Given the description of an element on the screen output the (x, y) to click on. 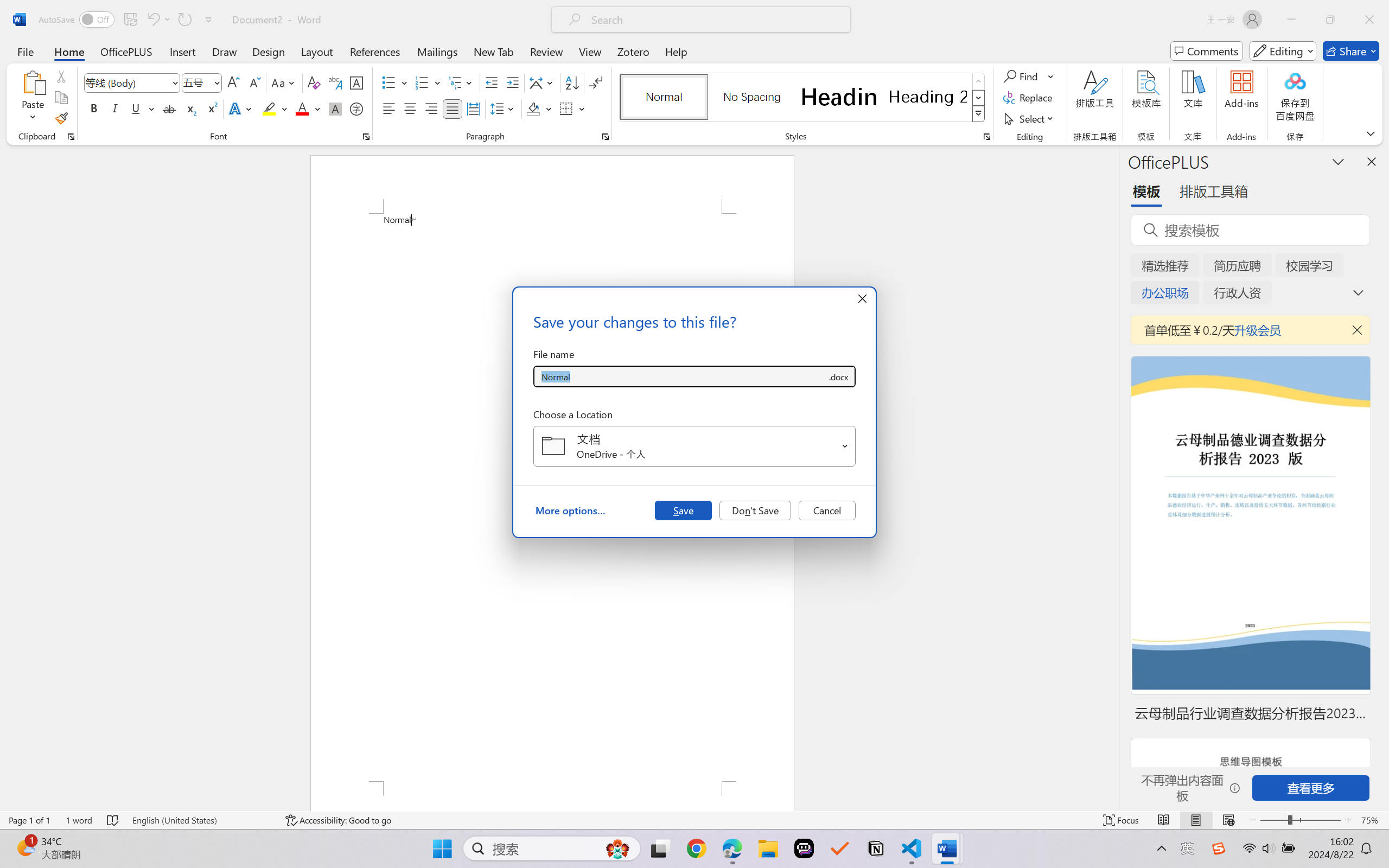
Find (1022, 75)
Print Layout (1196, 819)
Row Down (978, 97)
Grow Font (233, 82)
OfficePLUS (126, 51)
Bullets (388, 82)
Customize Quick Access Toolbar (208, 19)
Language English (United States) (201, 819)
Italic (115, 108)
Heading 2 (927, 96)
Google Chrome (696, 848)
